Given the description of an element on the screen output the (x, y) to click on. 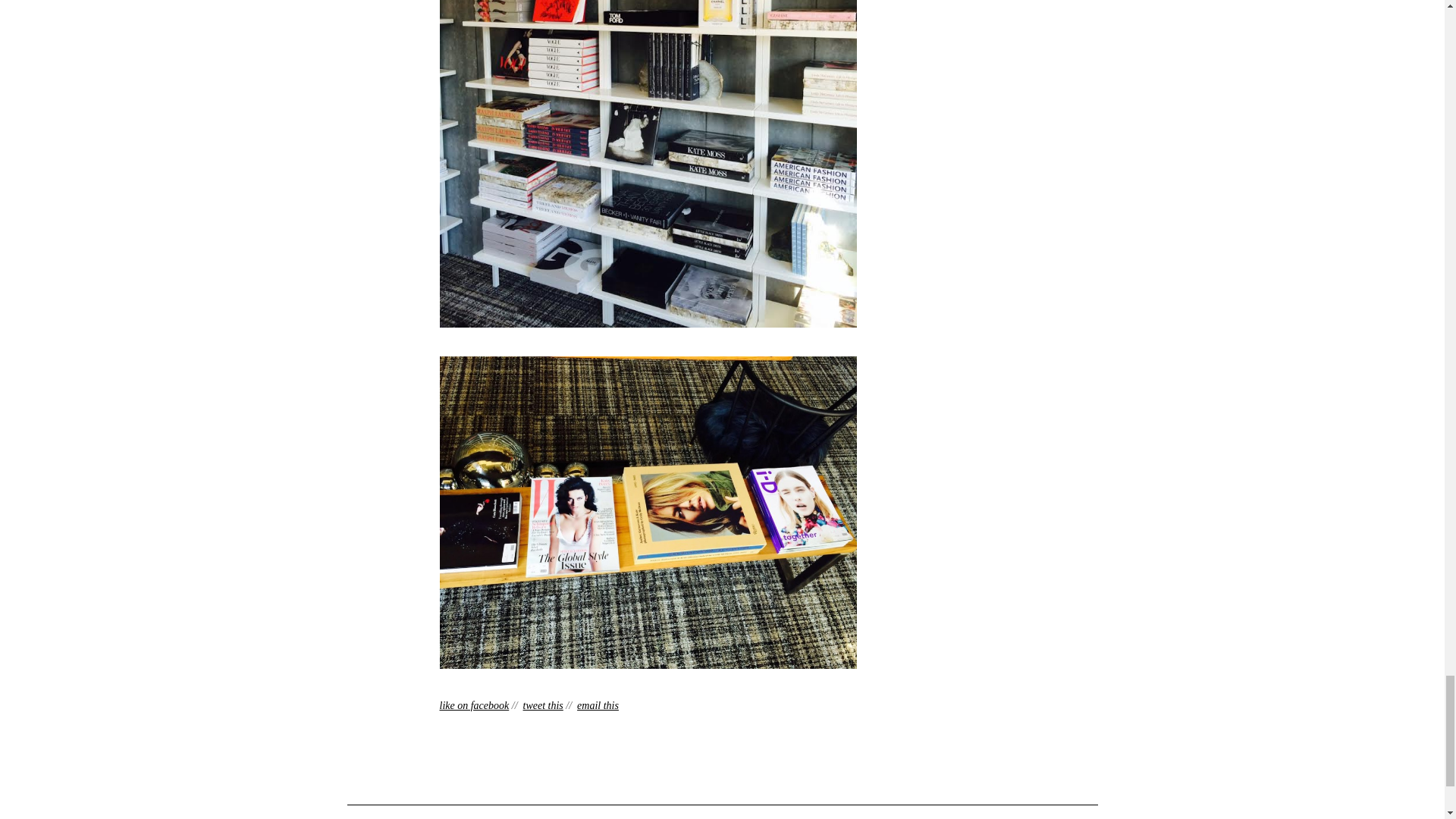
tweet this (542, 705)
like on facebook (474, 705)
email this (597, 705)
